Given the description of an element on the screen output the (x, y) to click on. 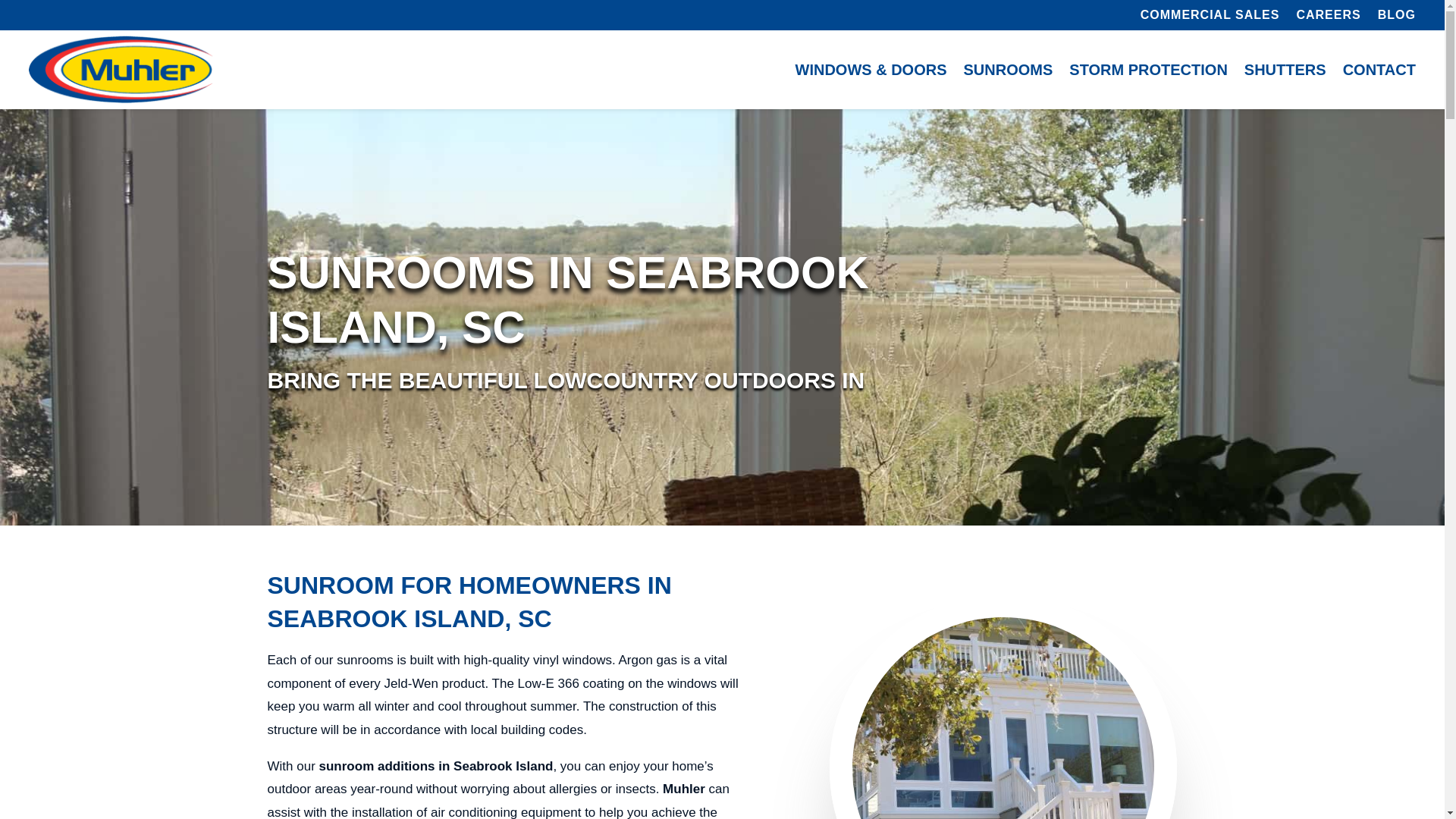
BLOG (1396, 17)
CAREERS (1327, 17)
SHUTTERS (1285, 70)
COMMERCIAL SALES (1209, 17)
SUNROOMS (1007, 70)
CONTACT (1378, 70)
STORM PROTECTION (1147, 70)
